Given the description of an element on the screen output the (x, y) to click on. 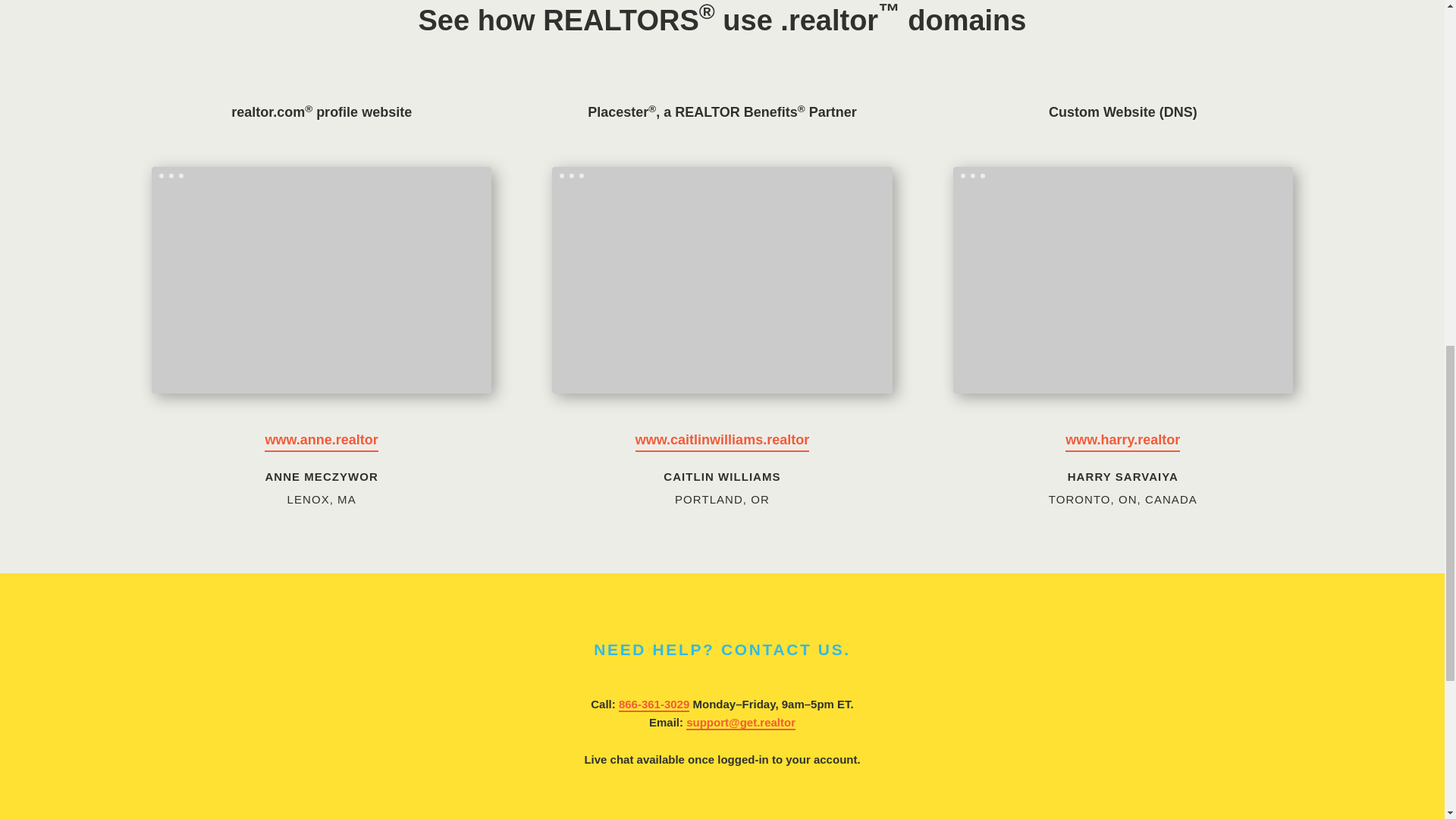
866-361-3029 (653, 704)
